Given the description of an element on the screen output the (x, y) to click on. 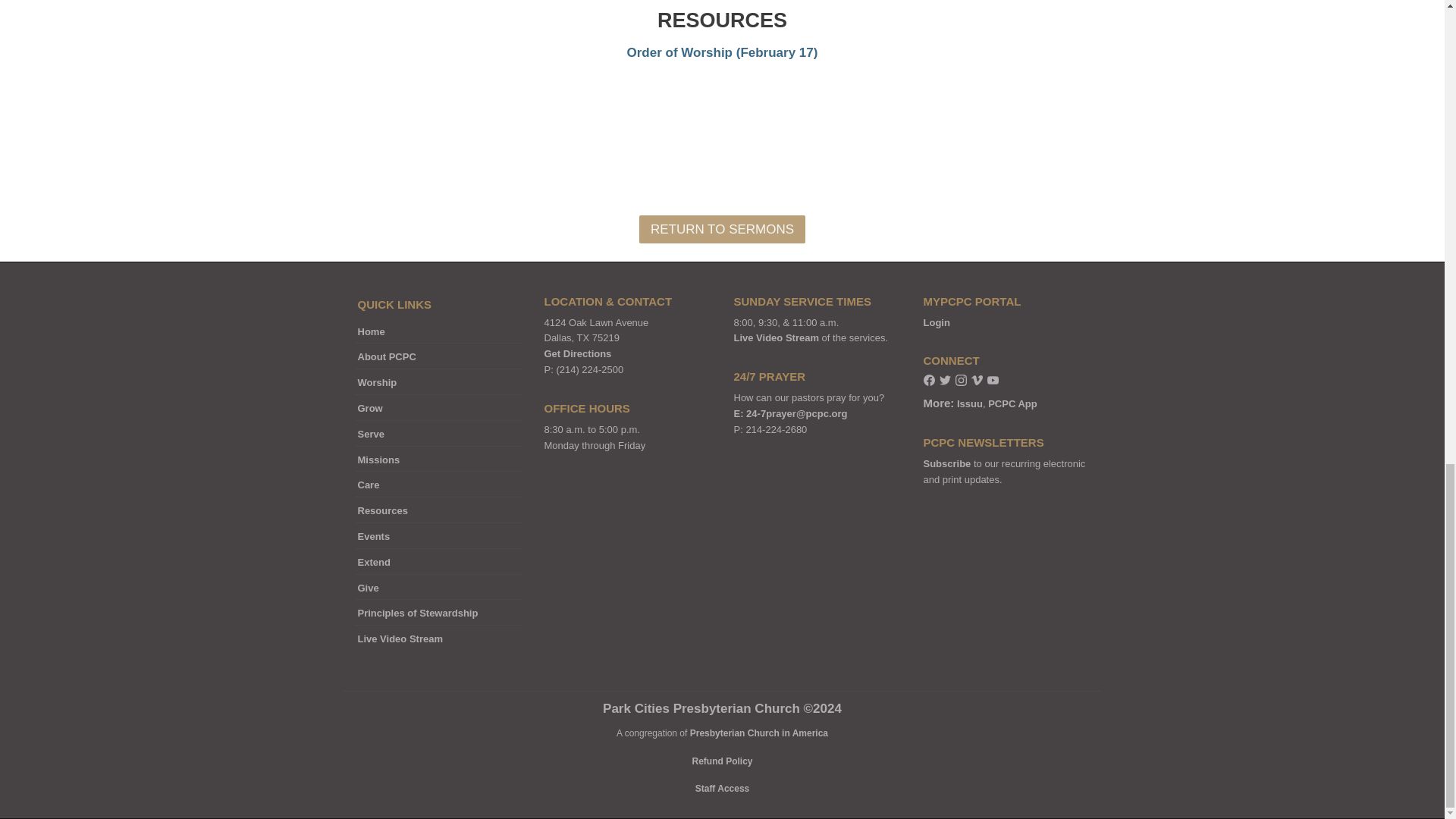
Twitter (944, 382)
Vimeo (976, 382)
Facebook (928, 382)
YouTube (992, 382)
Instagram (960, 382)
